Given the description of an element on the screen output the (x, y) to click on. 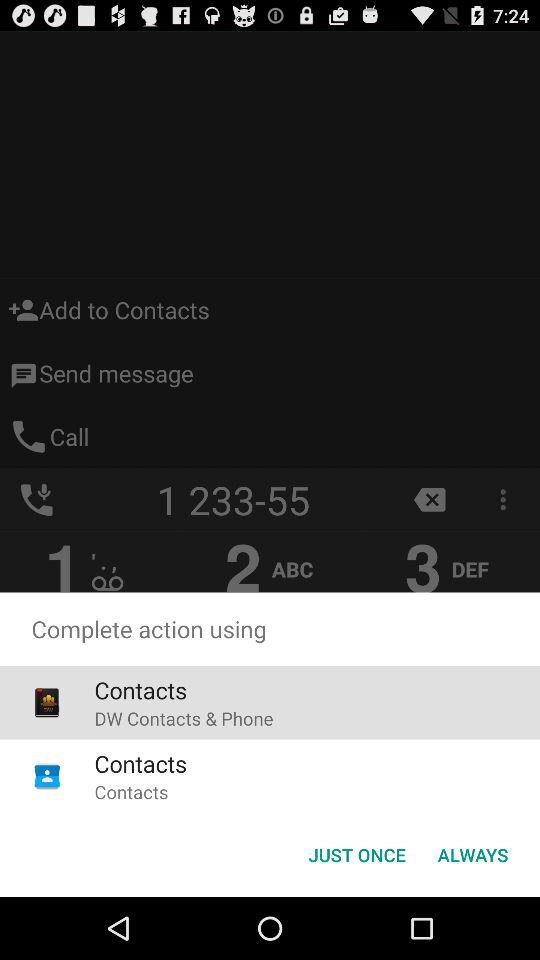
launch always (472, 854)
